Given the description of an element on the screen output the (x, y) to click on. 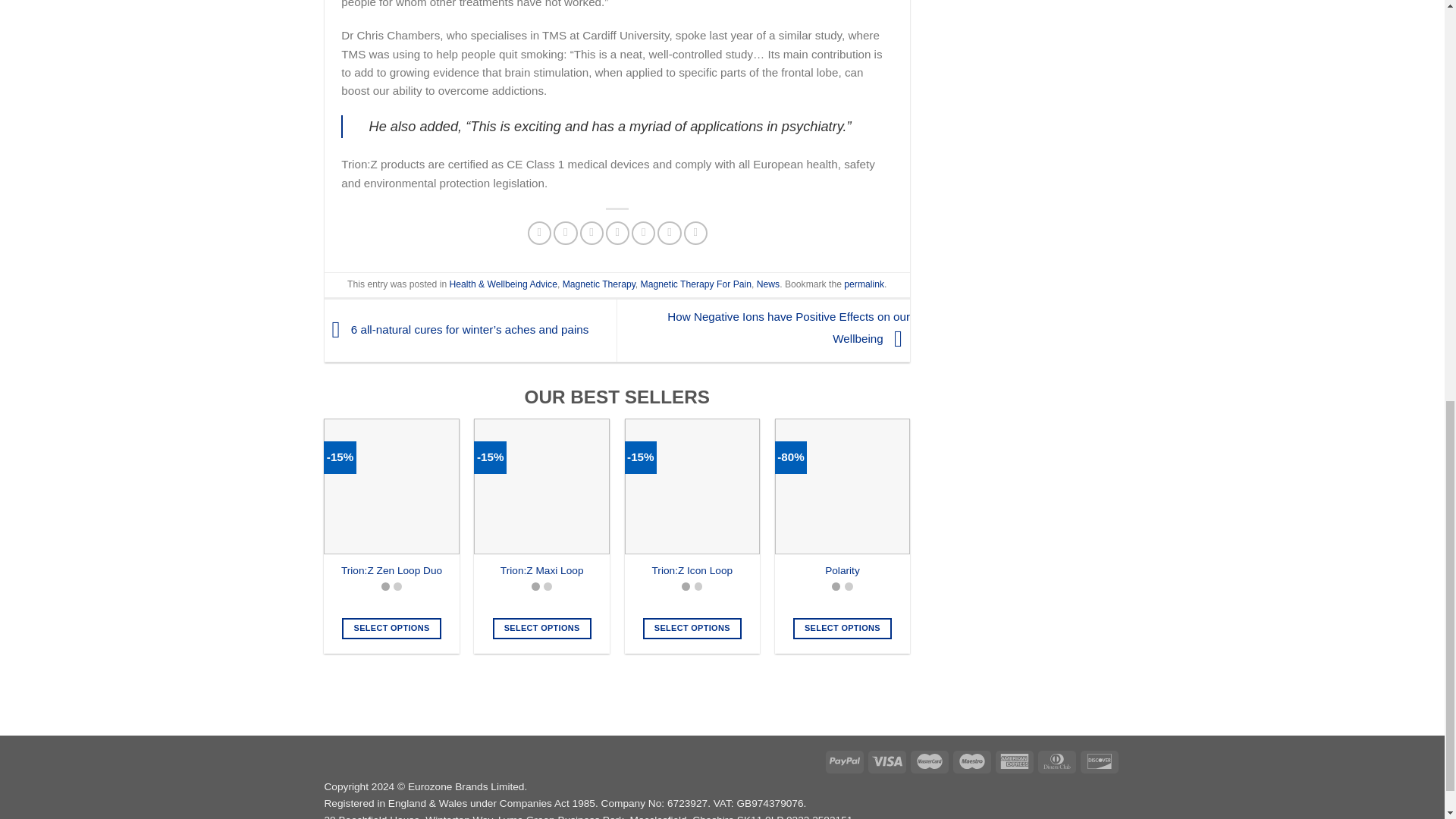
Share on VKontakte (643, 232)
Share on LinkedIn (669, 232)
Share on Tumblr (695, 232)
Share on Facebook (539, 232)
Email to a Friend (590, 232)
Permalink to Magnetic Therapy in Medical studies (863, 284)
Pin on Pinterest (616, 232)
Share on Twitter (564, 232)
